Given the description of an element on the screen output the (x, y) to click on. 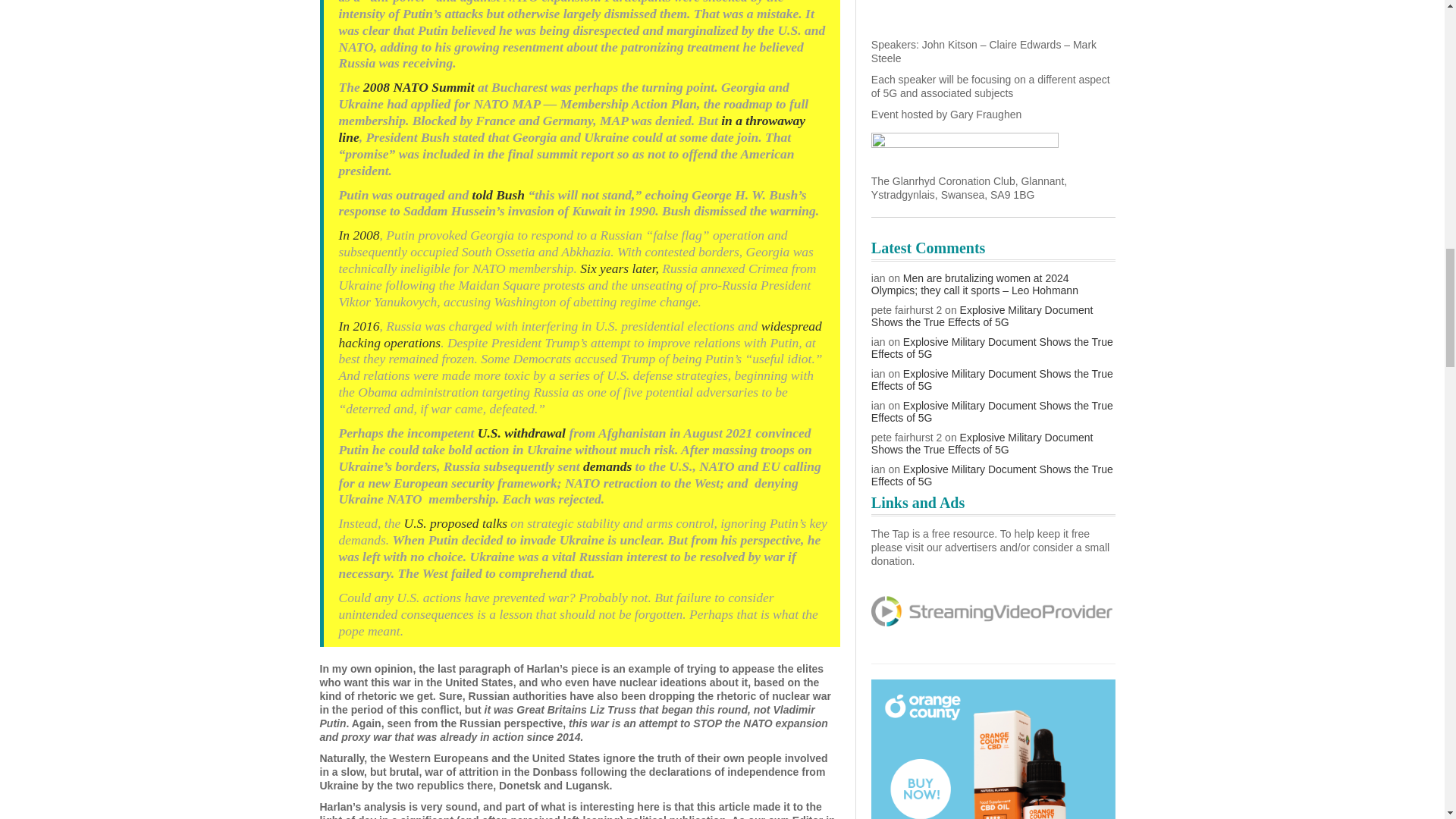
told Bush (498, 194)
in a throwaway line (571, 128)
2008 NATO Summit  (419, 87)
U.S. withdrawal (521, 432)
In 2008 (357, 234)
widespread hacking operations (579, 334)
 Six years later, (617, 268)
demands (607, 466)
U.S. proposed talks (455, 522)
In 2016 (357, 325)
